Given the description of an element on the screen output the (x, y) to click on. 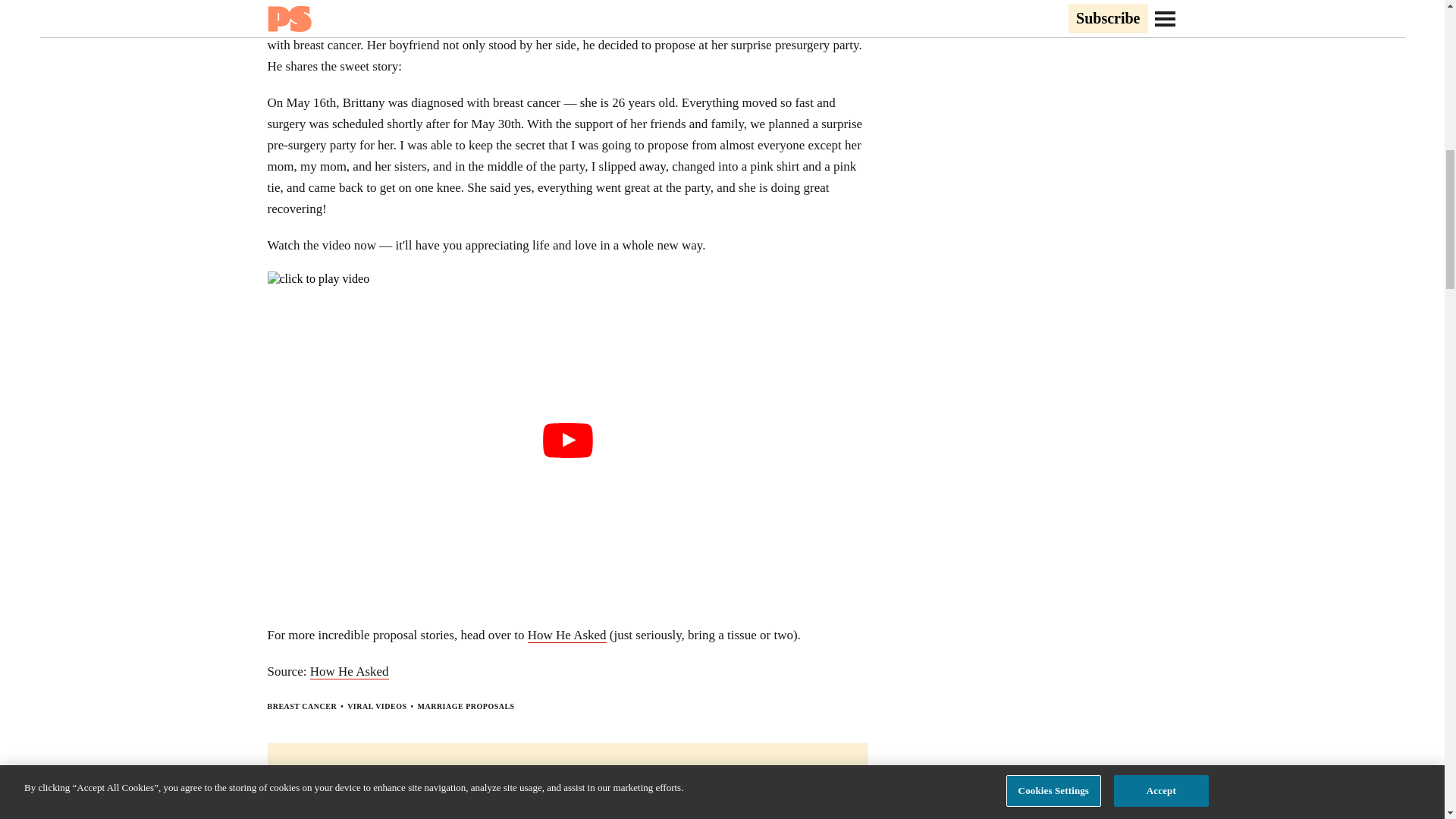
How He Asked (567, 635)
VIRAL VIDEOS (376, 705)
How He Asked (349, 671)
BREAST CANCER (301, 705)
MARRIAGE PROPOSALS (464, 705)
How He Asked (749, 5)
